Given the description of an element on the screen output the (x, y) to click on. 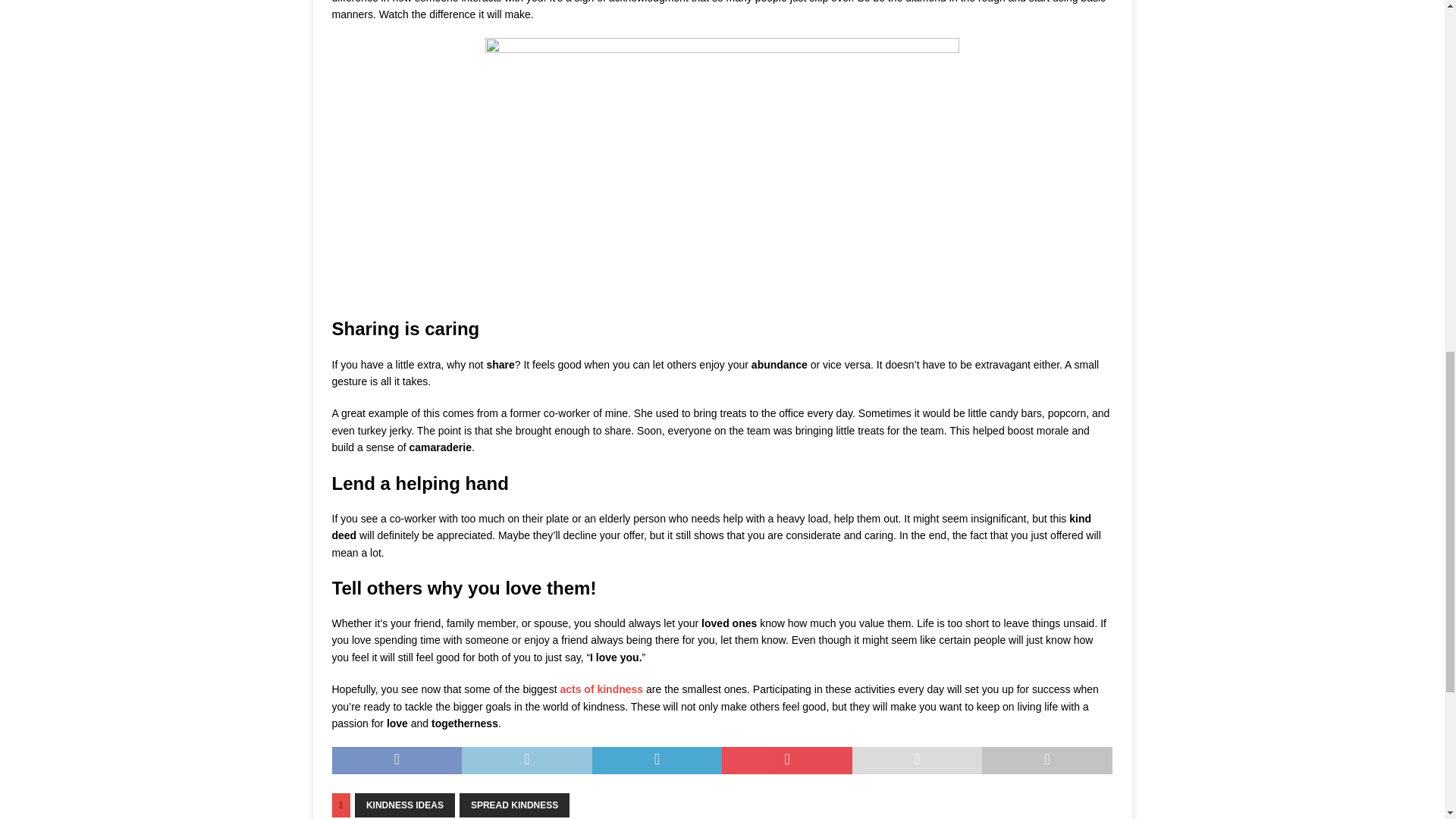
acts of kindness (601, 689)
SPREAD KINDNESS (514, 805)
KINDNESS IDEAS (404, 805)
